Given the description of an element on the screen output the (x, y) to click on. 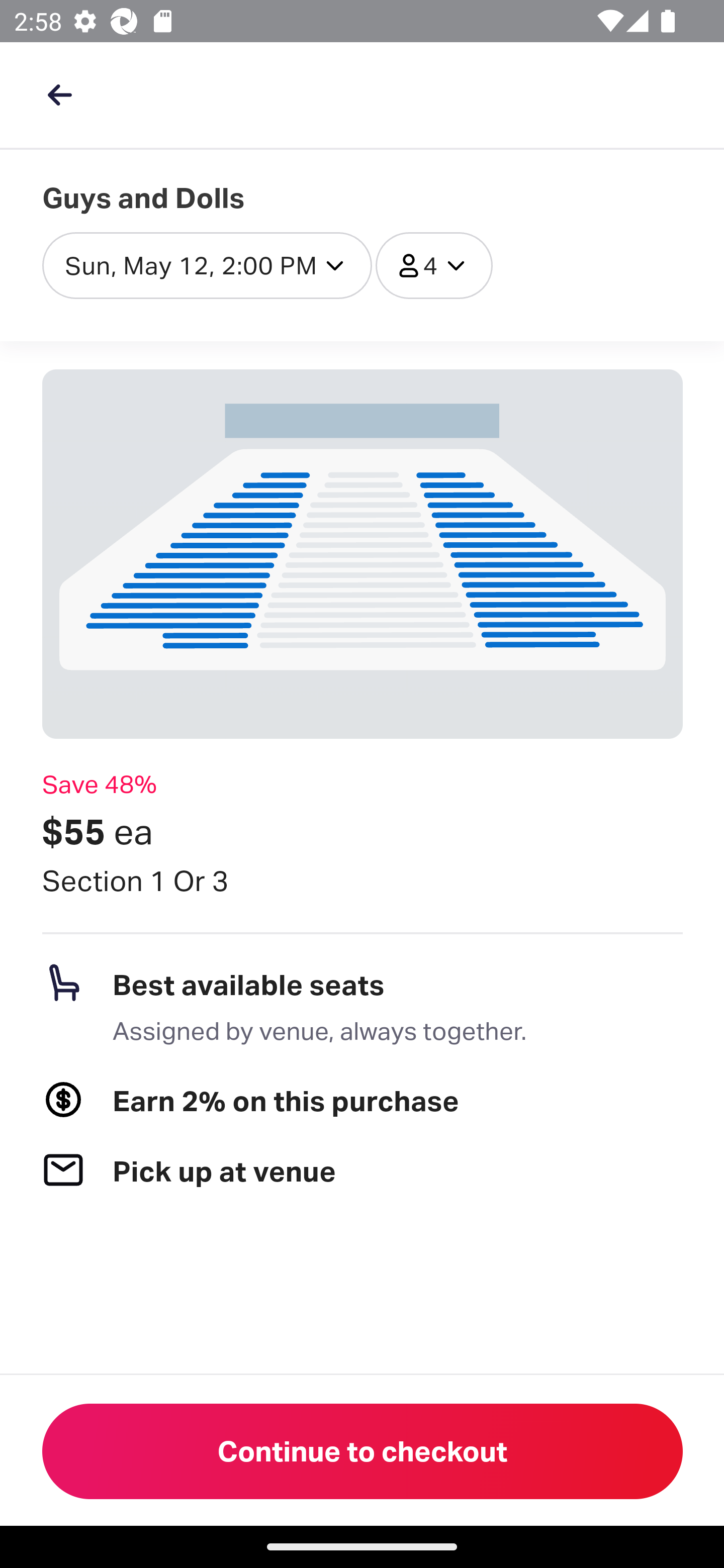
back button (59, 94)
Sun, May 12, 2:00 PM (206, 265)
4 (434, 265)
Continue to checkout (362, 1450)
